Given the description of an element on the screen output the (x, y) to click on. 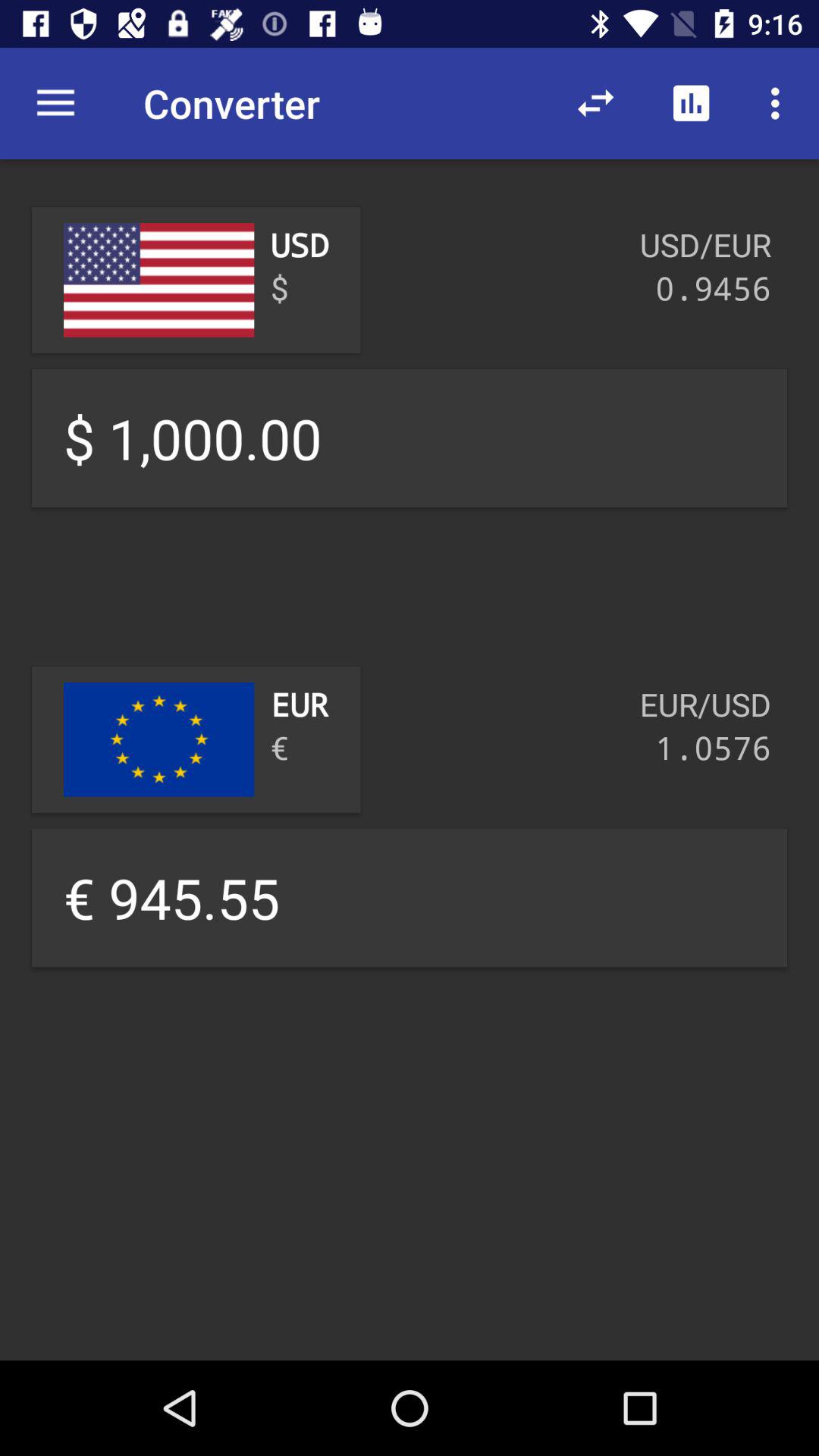
open the icon to the right of the converter icon (595, 103)
